Given the description of an element on the screen output the (x, y) to click on. 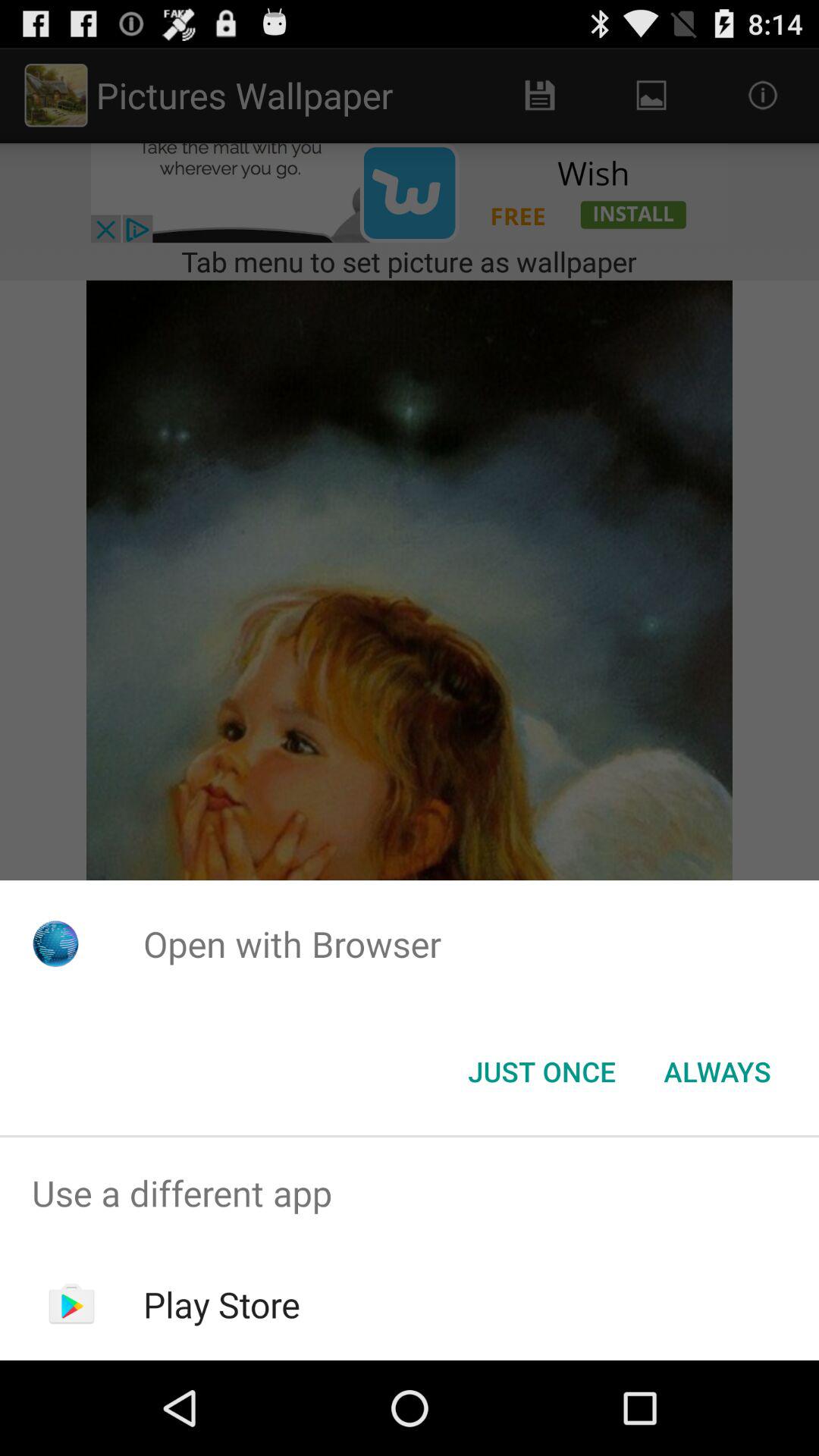
select the app below the open with browser item (541, 1071)
